Given the description of an element on the screen output the (x, y) to click on. 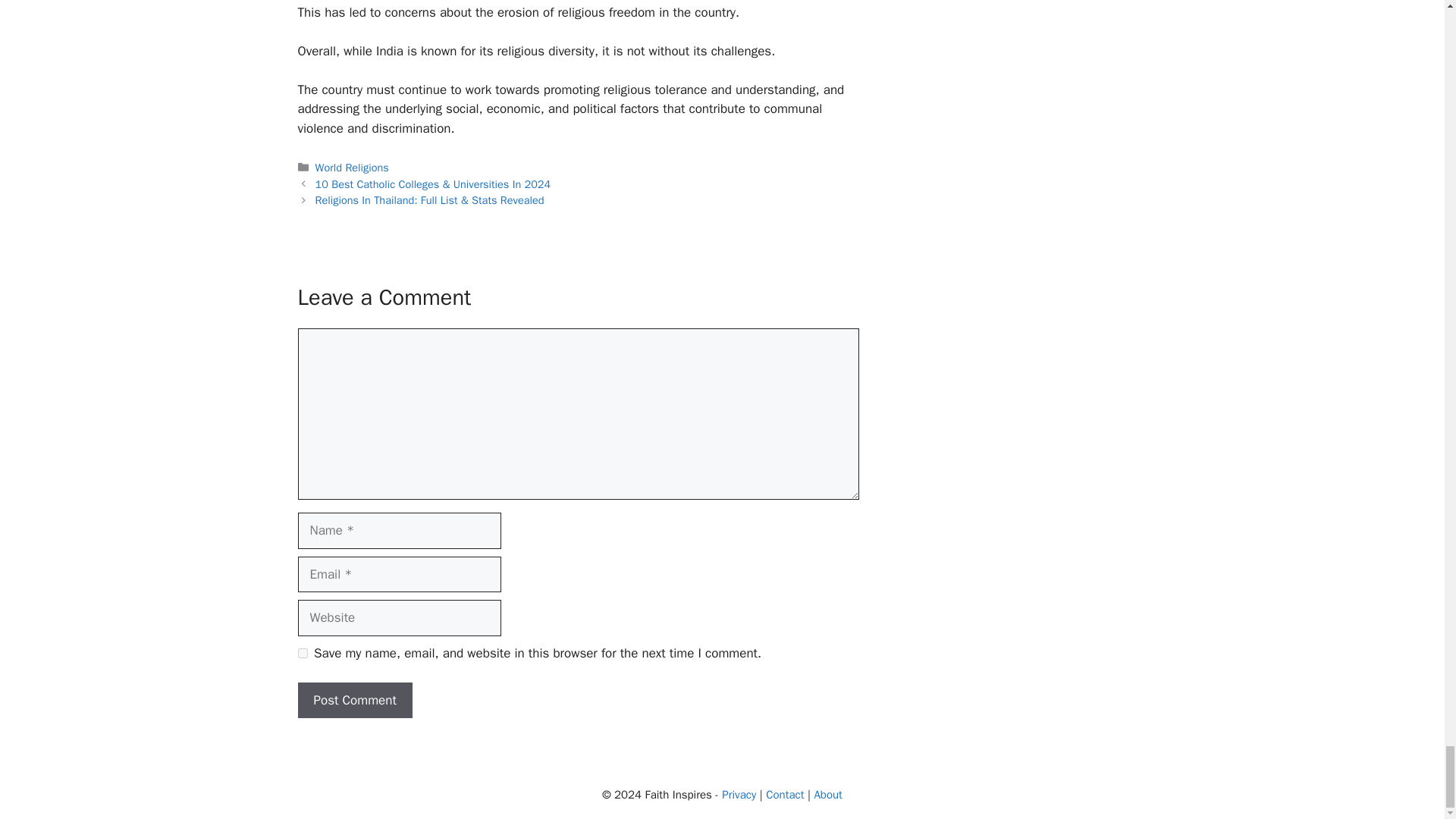
yes (302, 653)
Post Comment (354, 700)
